Given the description of an element on the screen output the (x, y) to click on. 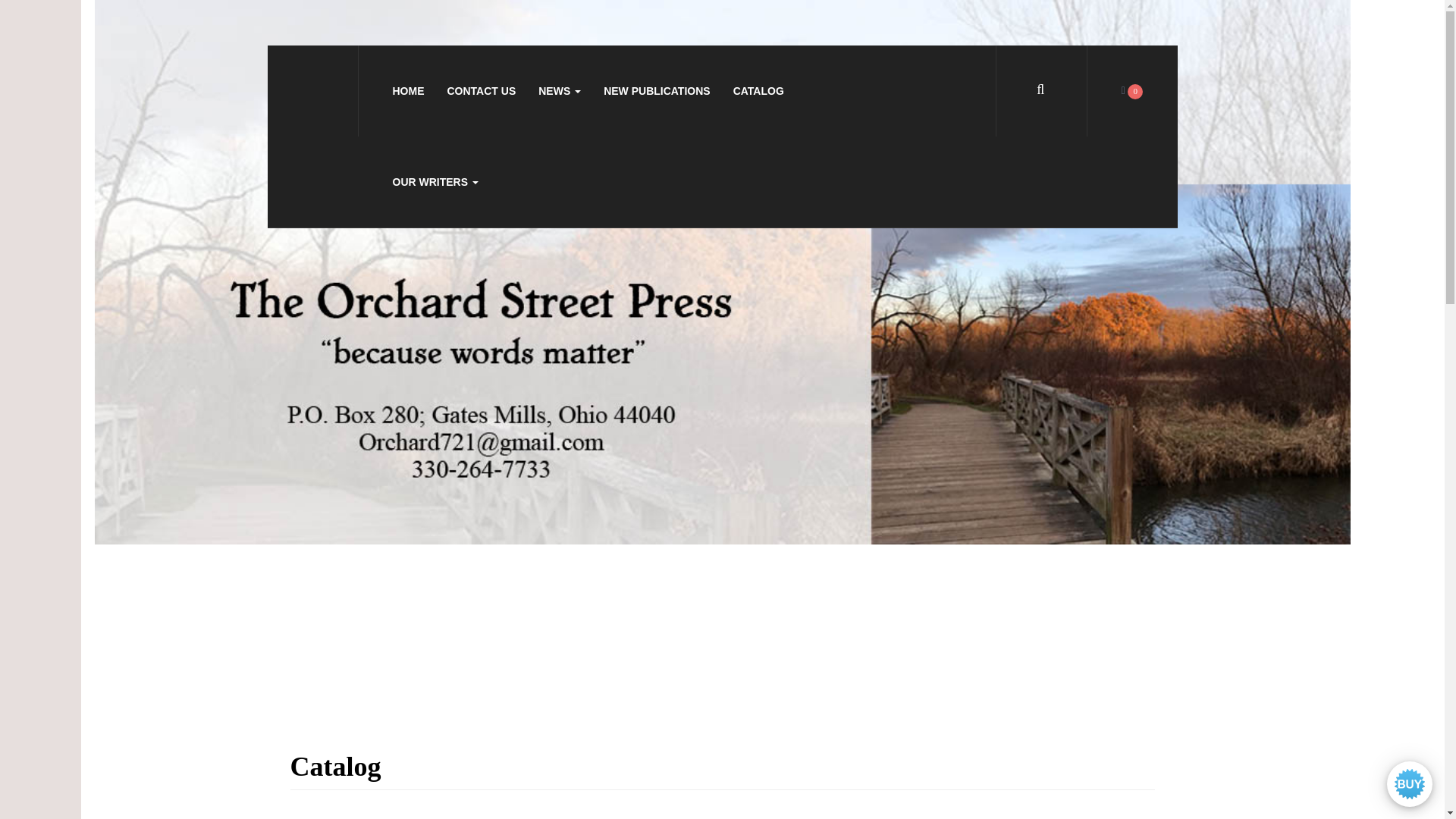
NEW PUBLICATIONS (657, 90)
OUR WRITERS (436, 181)
0 (1131, 90)
Mary Ann Honaker bio (721, 814)
